Given the description of an element on the screen output the (x, y) to click on. 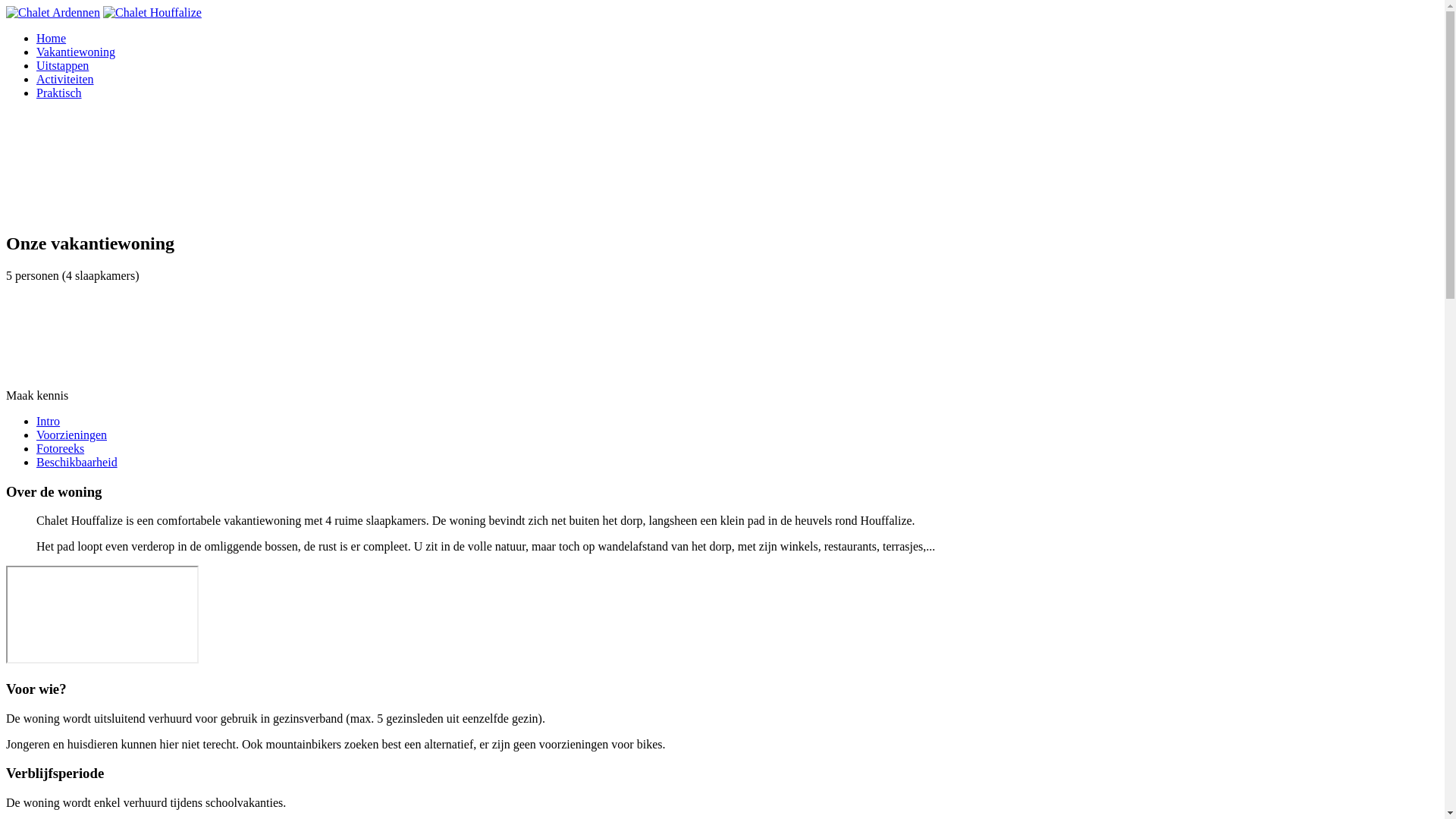
Home Element type: text (737, 38)
Praktisch Element type: text (737, 93)
Activiteiten Element type: text (737, 79)
Vakantiewoning Element type: text (737, 52)
Voorzieningen Element type: text (737, 435)
Uitstappen Element type: text (737, 65)
Beschikbaarheid Element type: text (737, 462)
Fotoreeks Element type: text (737, 448)
Intro Element type: text (737, 421)
